Given the description of an element on the screen output the (x, y) to click on. 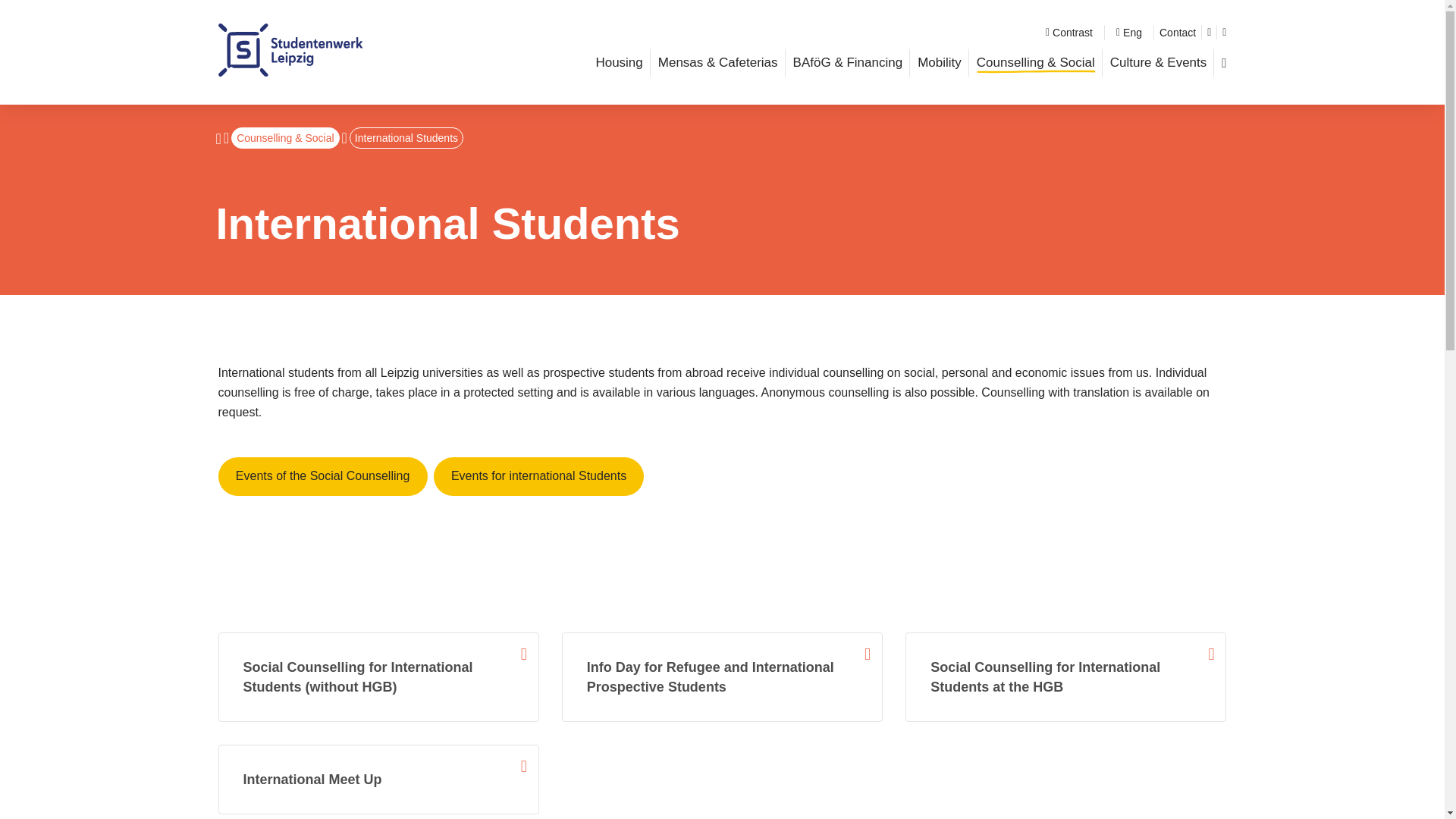
Info Day for Refugee and International Prospective Students (722, 676)
Contrast (1069, 32)
Enable contrast mode (1069, 32)
Social Counselling for International Students at the HGB (1065, 676)
Housing (618, 62)
International Meet Up (378, 779)
Open language menu (1128, 32)
Contact (1176, 32)
Eng (1128, 32)
